Given the description of an element on the screen output the (x, y) to click on. 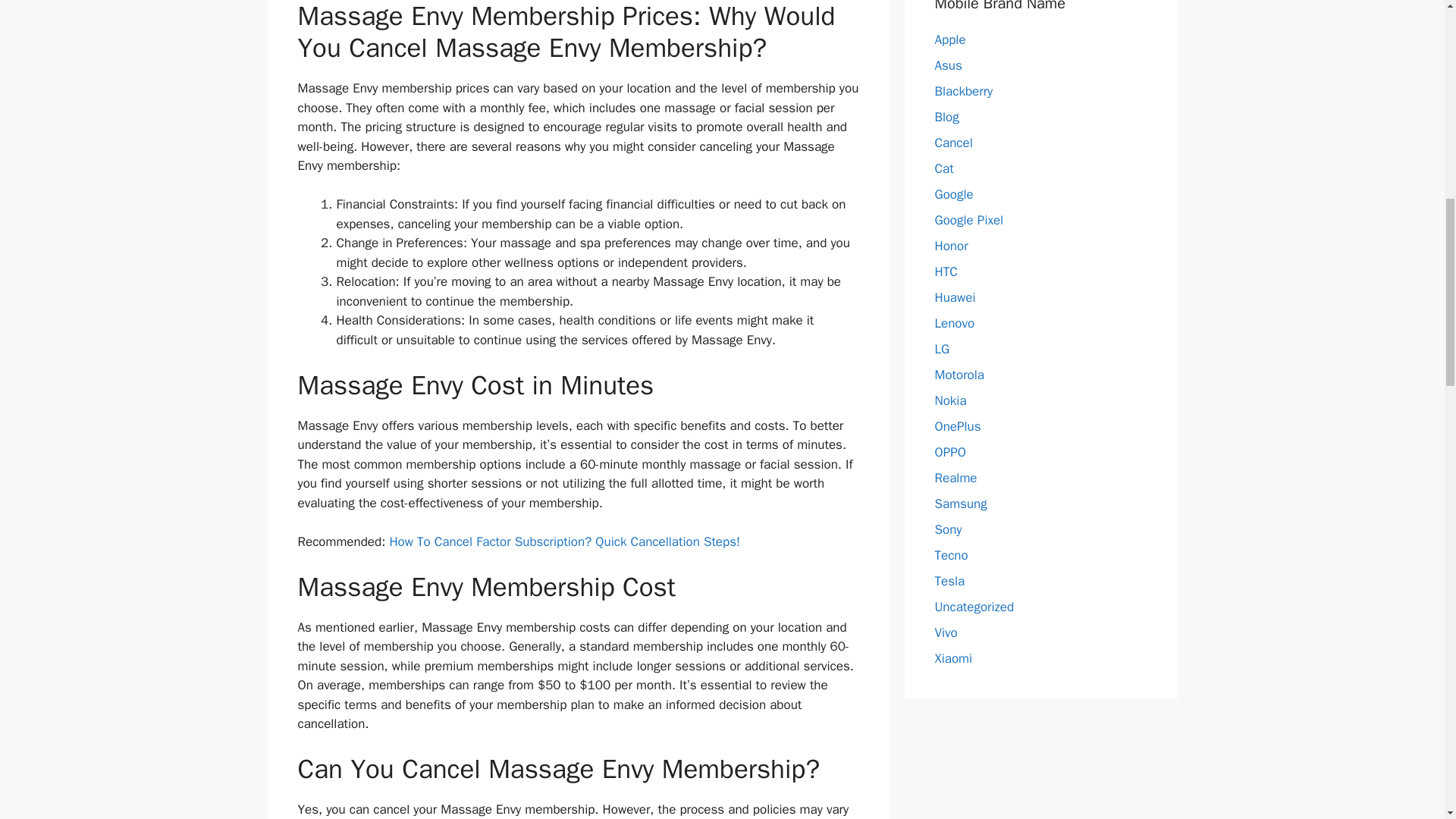
Google (953, 194)
Google Pixel (968, 220)
Asus (947, 65)
Blackberry (963, 91)
Cat (943, 168)
Honor (951, 245)
Apple (949, 39)
Cancel (953, 142)
Blog (946, 116)
HTC (945, 271)
